Given the description of an element on the screen output the (x, y) to click on. 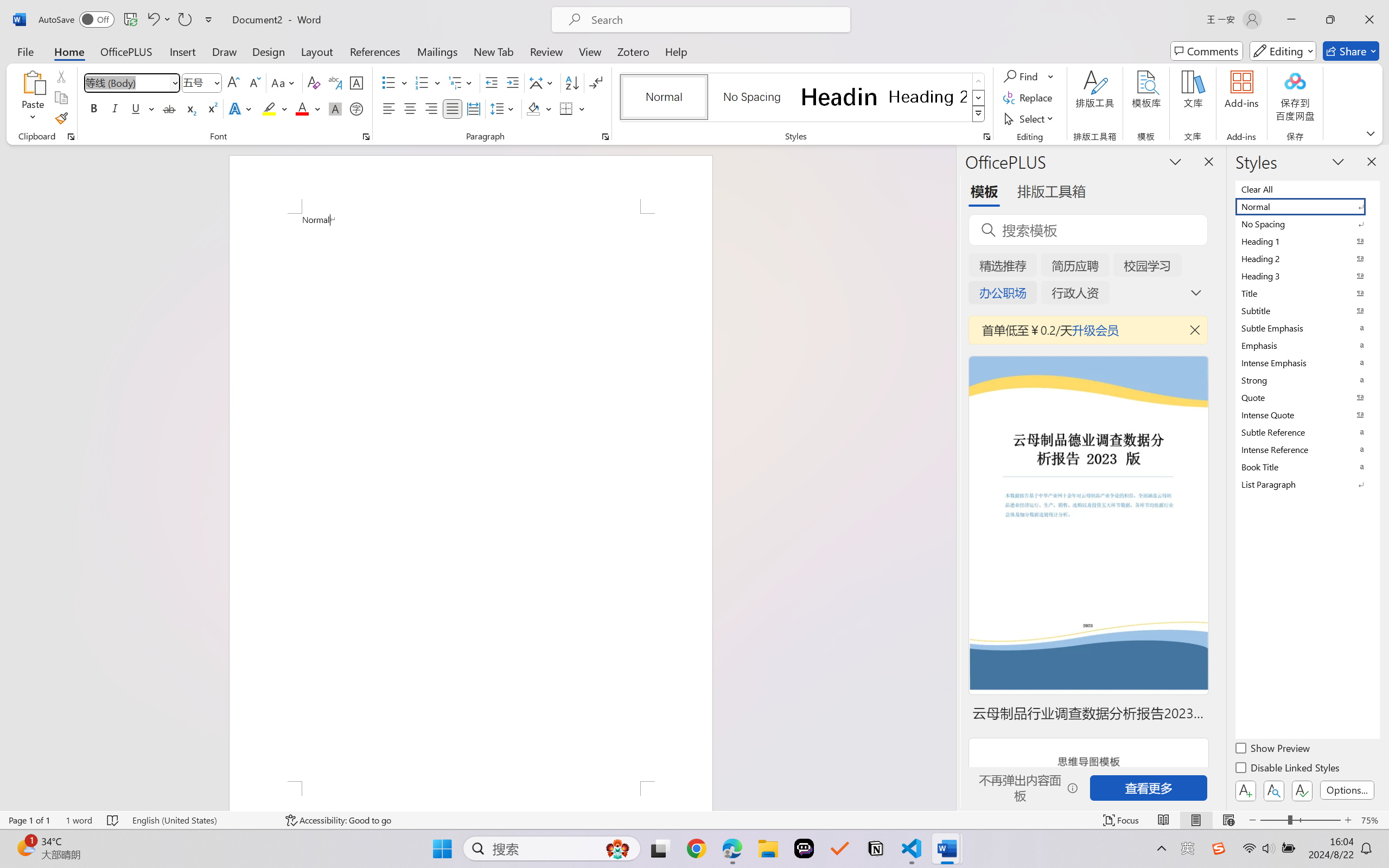
Bold (94, 108)
Options... (1346, 789)
Save (130, 19)
Heading 2 (927, 96)
Subtitle (1306, 310)
Help (675, 51)
Select (1030, 118)
AutoSave (76, 19)
Paste (33, 97)
Share (1350, 51)
Book Title (1306, 466)
Justify (452, 108)
